Given the description of an element on the screen output the (x, y) to click on. 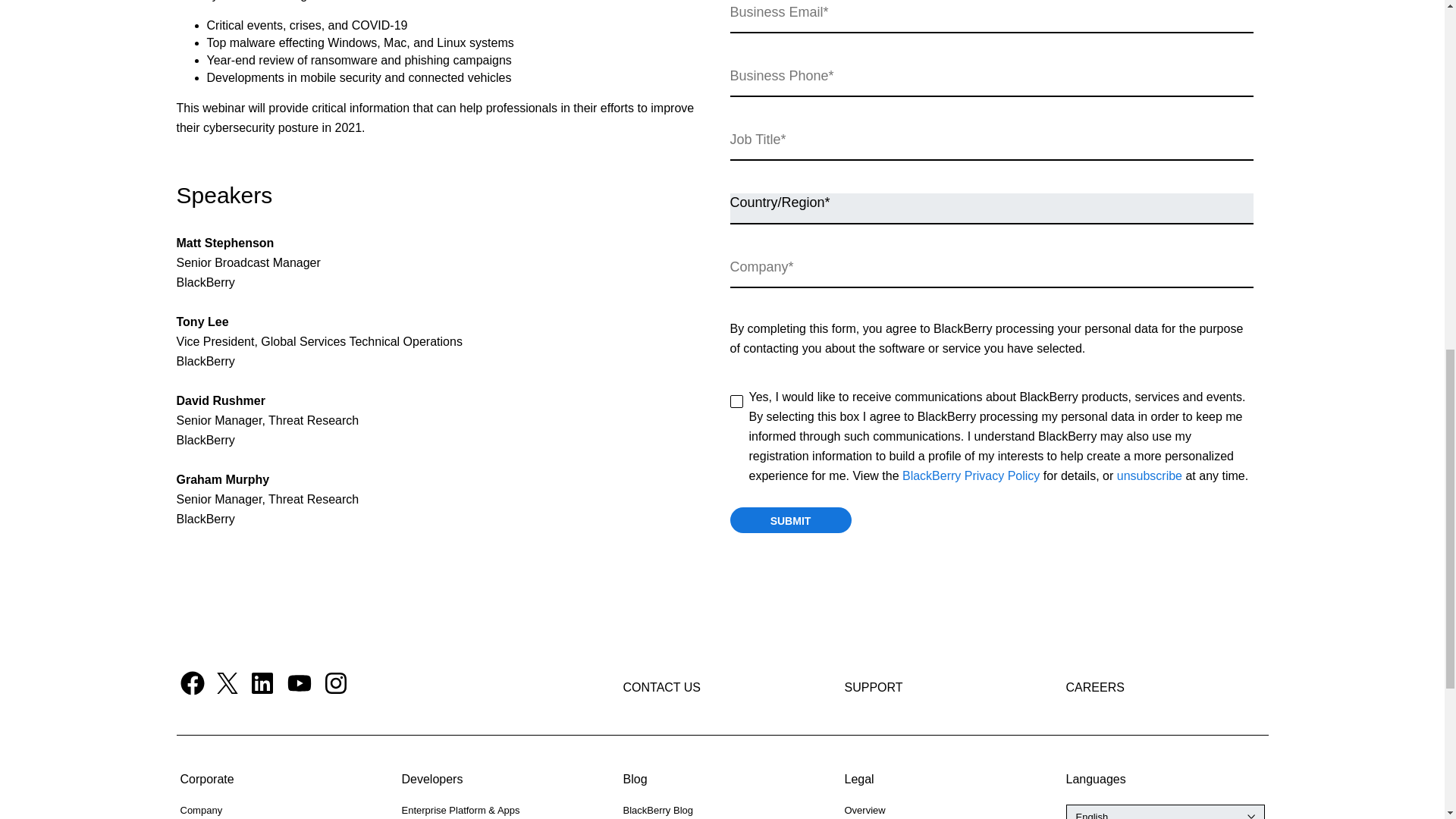
X (227, 682)
Language (1165, 811)
